Given the description of an element on the screen output the (x, y) to click on. 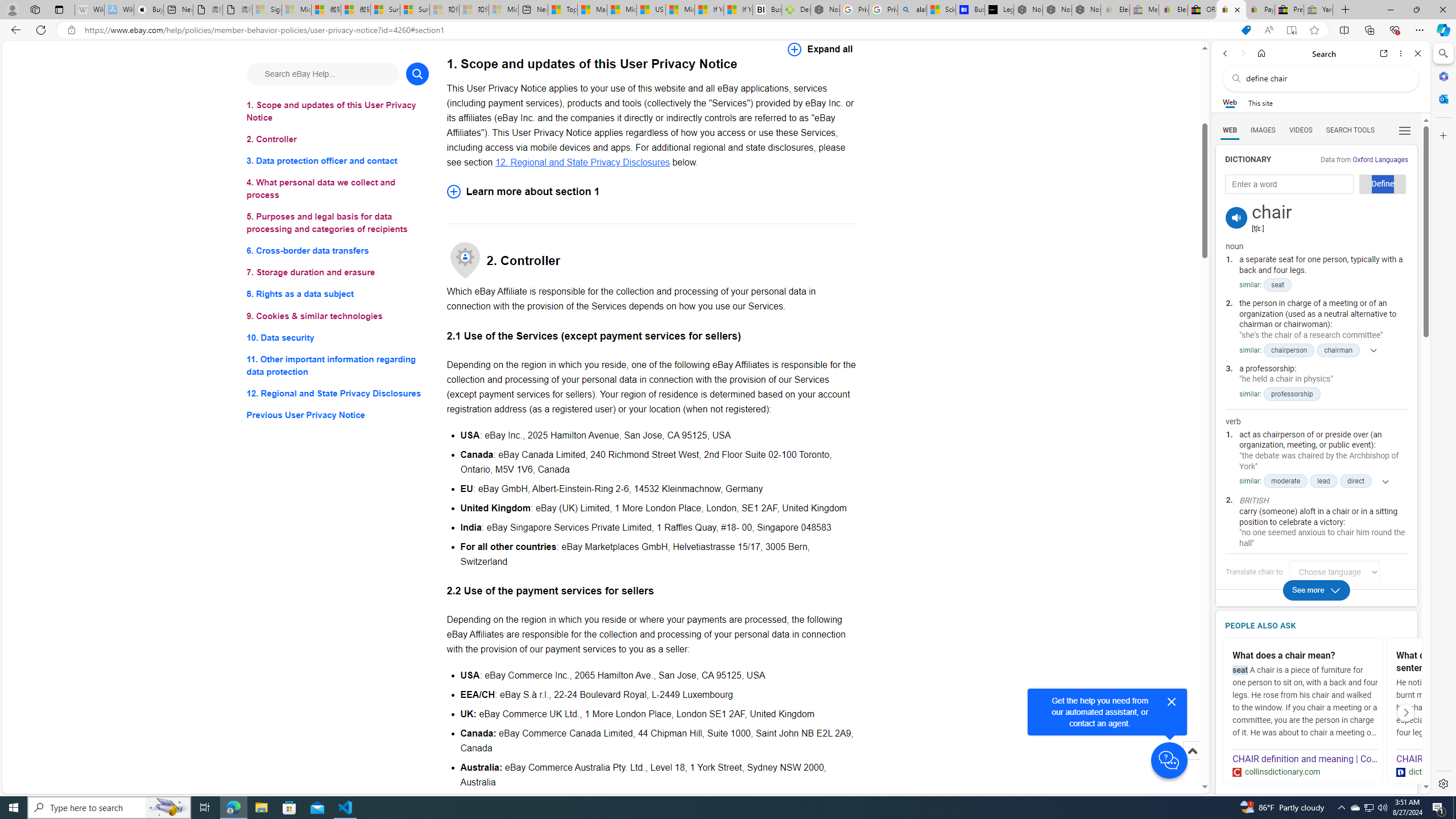
seat (1277, 285)
professorship (1291, 393)
1. Scope and updates of this User Privacy Notice (337, 111)
Learn more about section 1 (651, 191)
chairman (1337, 350)
